Given the description of an element on the screen output the (x, y) to click on. 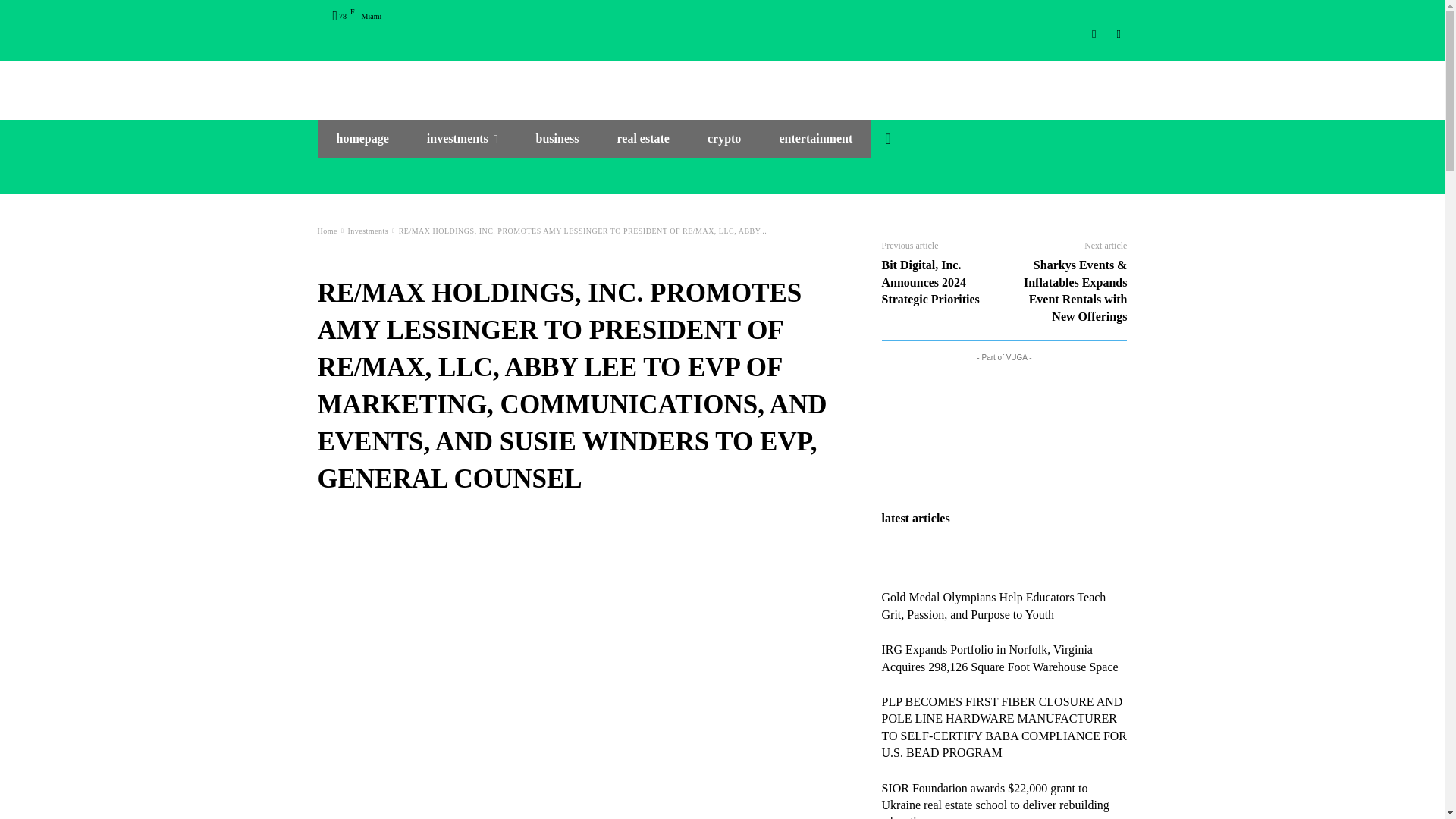
homepage (362, 138)
Facebook (1117, 34)
business (557, 138)
Instagram (1094, 34)
News Jay (721, 84)
entertainment (815, 138)
crypto (724, 138)
News Jay (721, 84)
investments (461, 138)
real estate (641, 138)
